Given the description of an element on the screen output the (x, y) to click on. 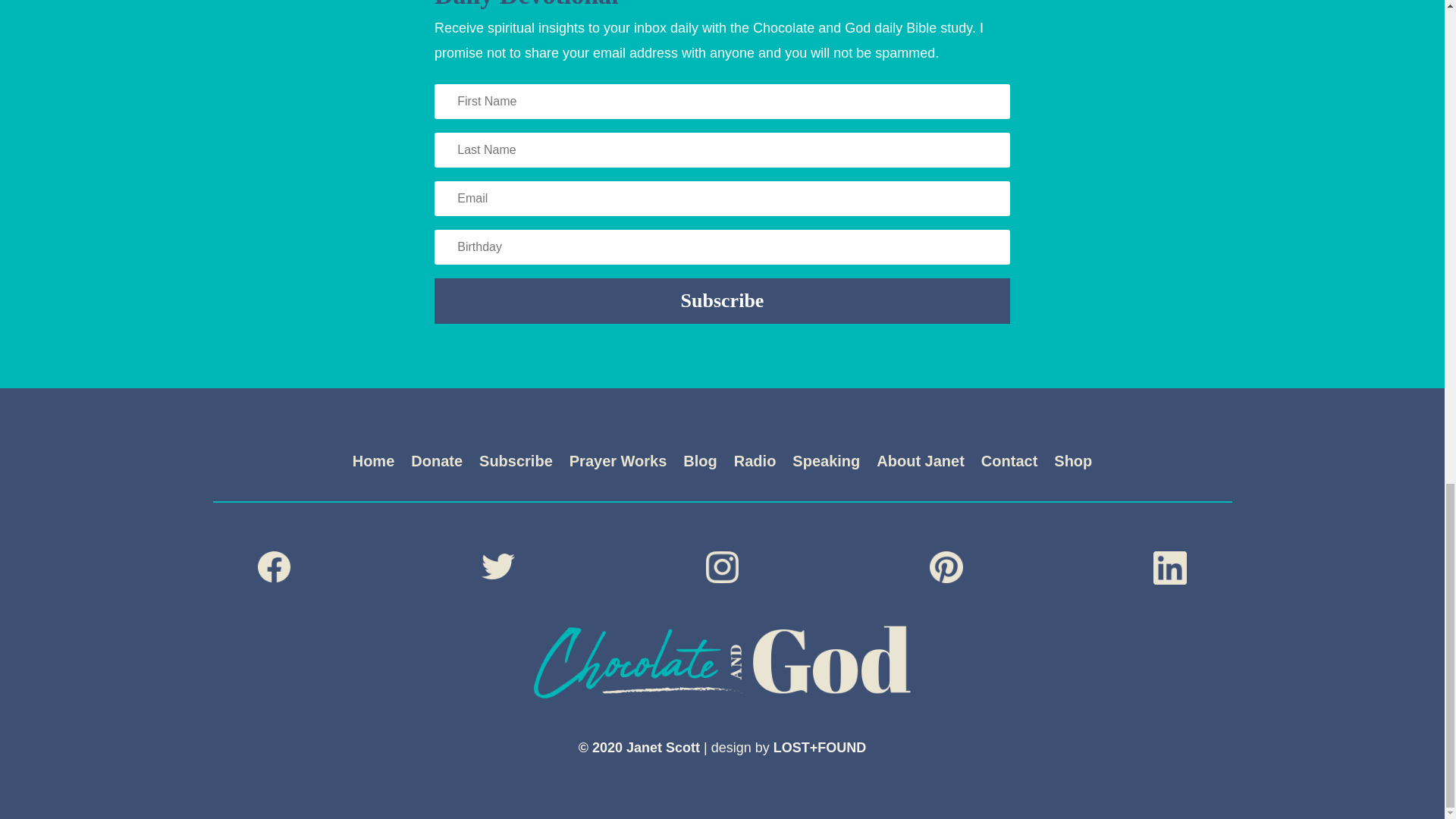
linkedin-footer-icon (1169, 567)
Prayer Works (617, 463)
instagram-footer-icon (722, 567)
twitter-footer-icon (498, 566)
pinterest-footer-icon (946, 567)
facebok-footer-icon (274, 567)
Subscribe (516, 463)
Radio (754, 463)
Blog (699, 463)
Subscribe (721, 300)
Home (373, 463)
logo-footer (722, 661)
Donate (436, 463)
Speaking (826, 463)
